Given the description of an element on the screen output the (x, y) to click on. 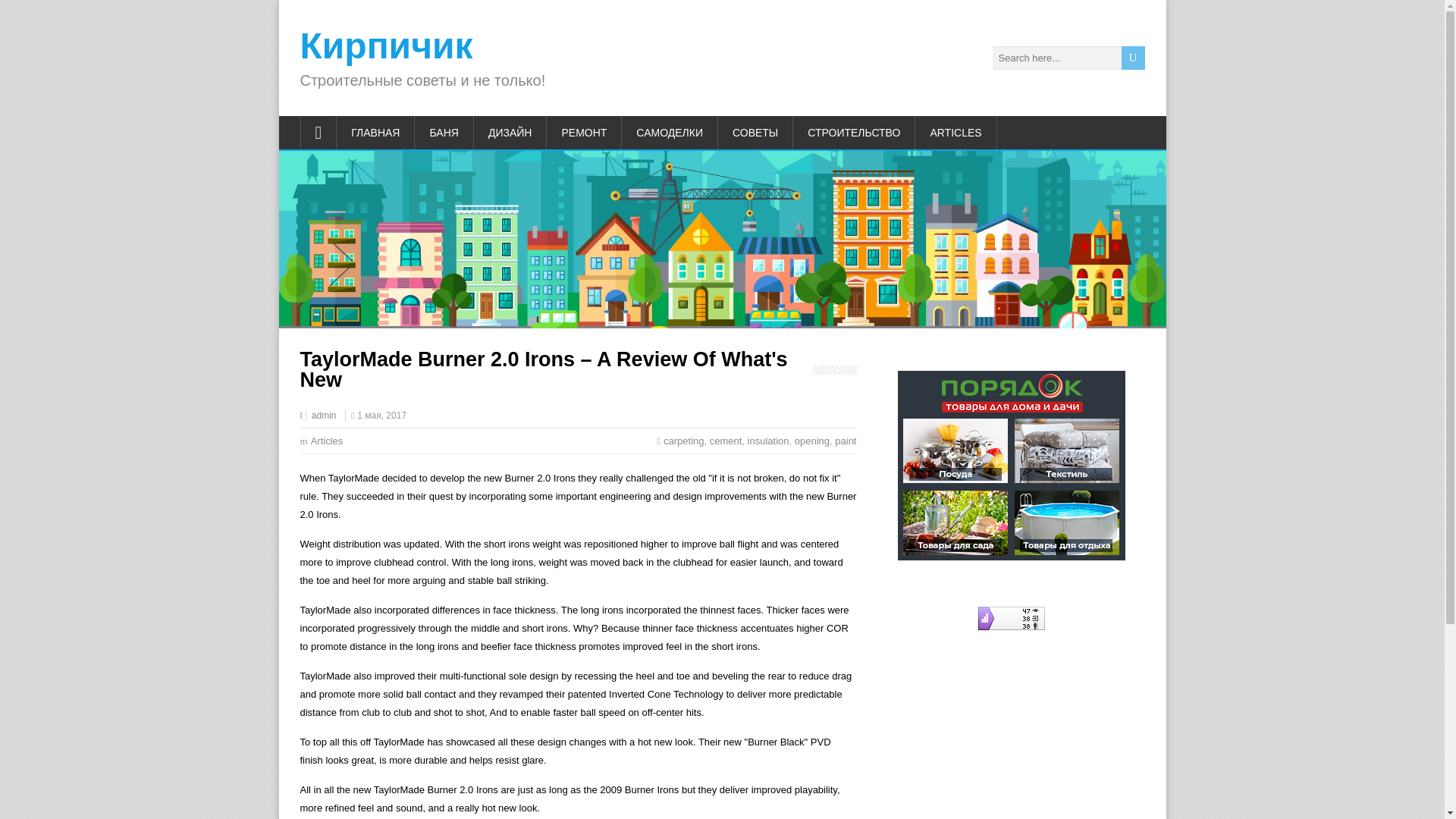
cement (726, 440)
paint (845, 440)
insulation (768, 440)
U (1132, 57)
Articles (327, 440)
U (1132, 57)
U (1132, 57)
carpeting (683, 440)
ARTICLES (955, 132)
admin (323, 415)
